Given the description of an element on the screen output the (x, y) to click on. 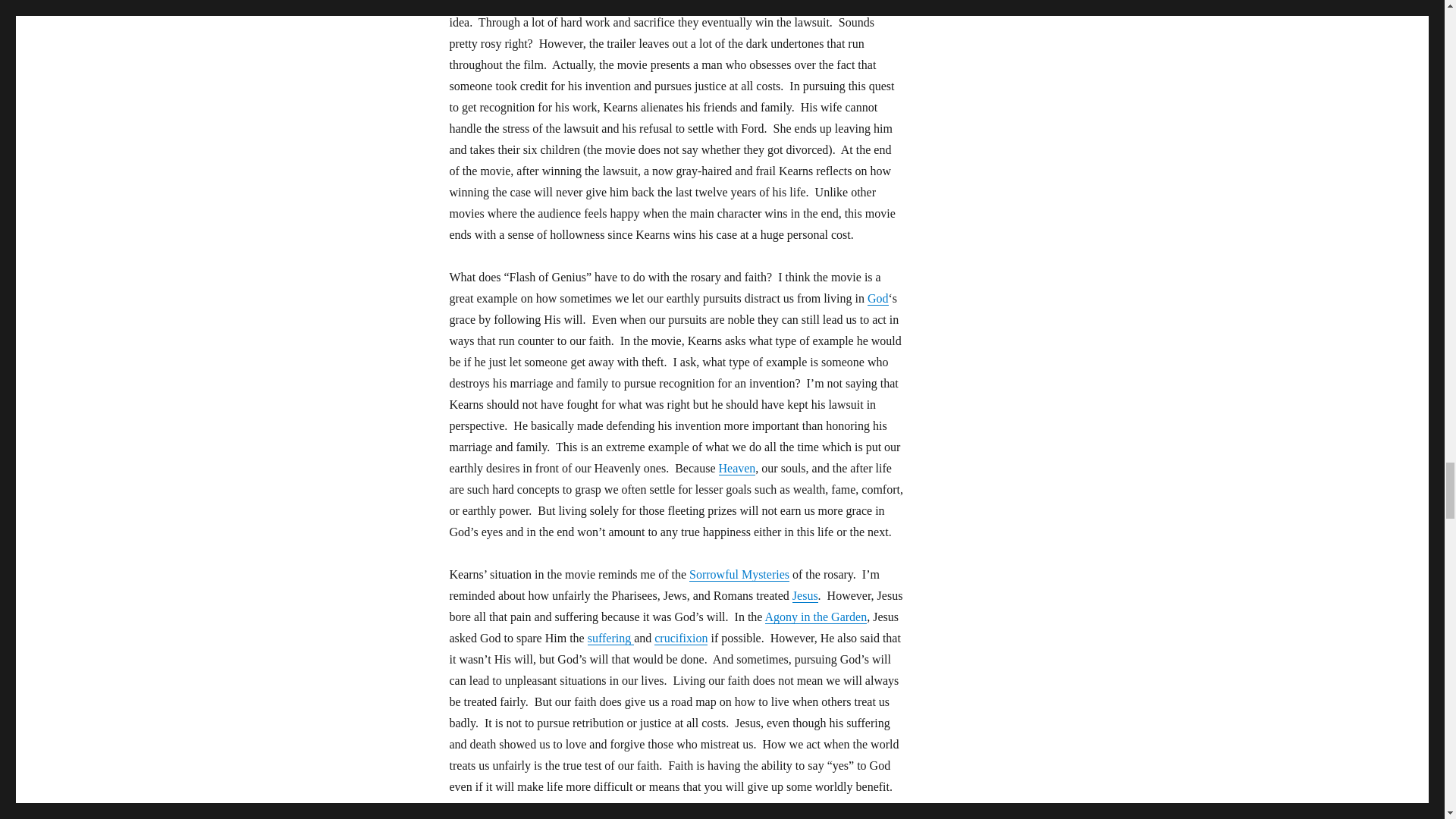
God (877, 297)
